Given the description of an element on the screen output the (x, y) to click on. 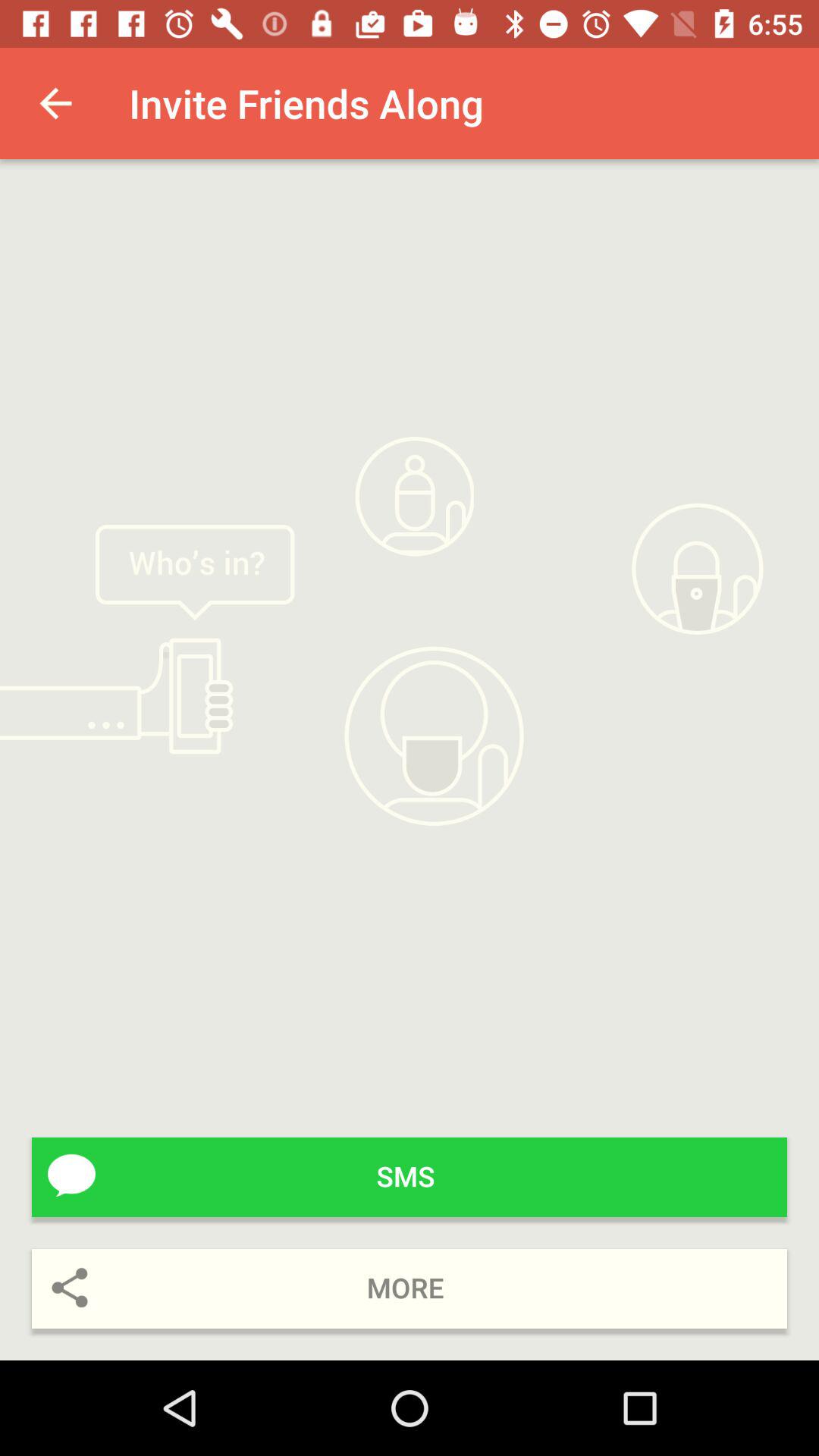
jump until the sms (409, 1177)
